Given the description of an element on the screen output the (x, y) to click on. 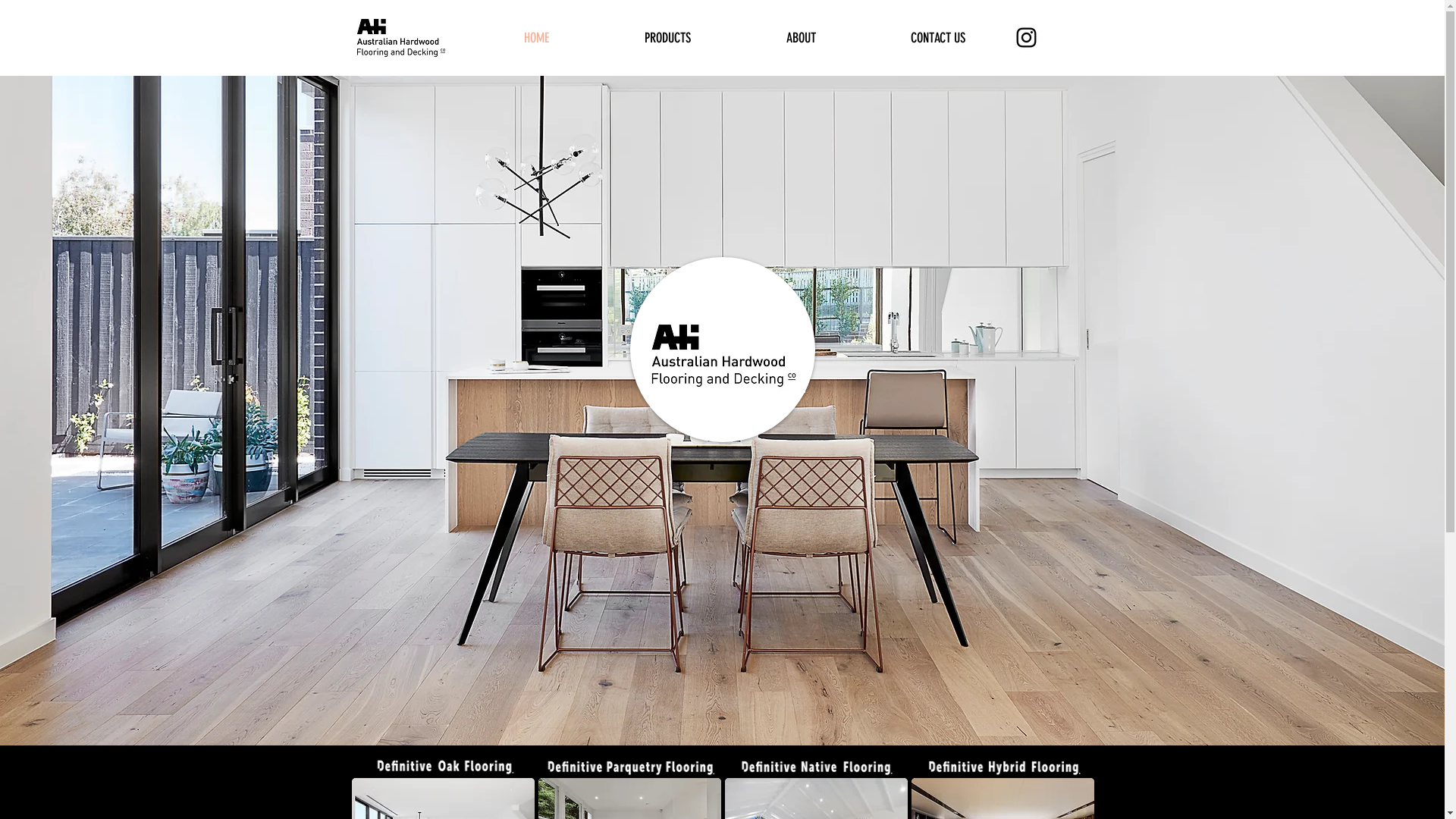
ABOUT Element type: text (800, 37)
CONTACT US Element type: text (937, 37)
PRODUCTS Element type: text (666, 37)
Definitive Parquetry Flooring_Light_Text.png Element type: hover (629, 766)
Definitive Oak Flooring_Light_Text.png Element type: hover (442, 766)
HOME Element type: text (536, 37)
Definitive Hybrid Flooring_Light_Text.pn Element type: hover (1002, 766)
WEB-STAT Element type: hover (708, 109)
Definitive Native Flooring_Light_Text.pn Element type: hover (815, 766)
